Given the description of an element on the screen output the (x, y) to click on. 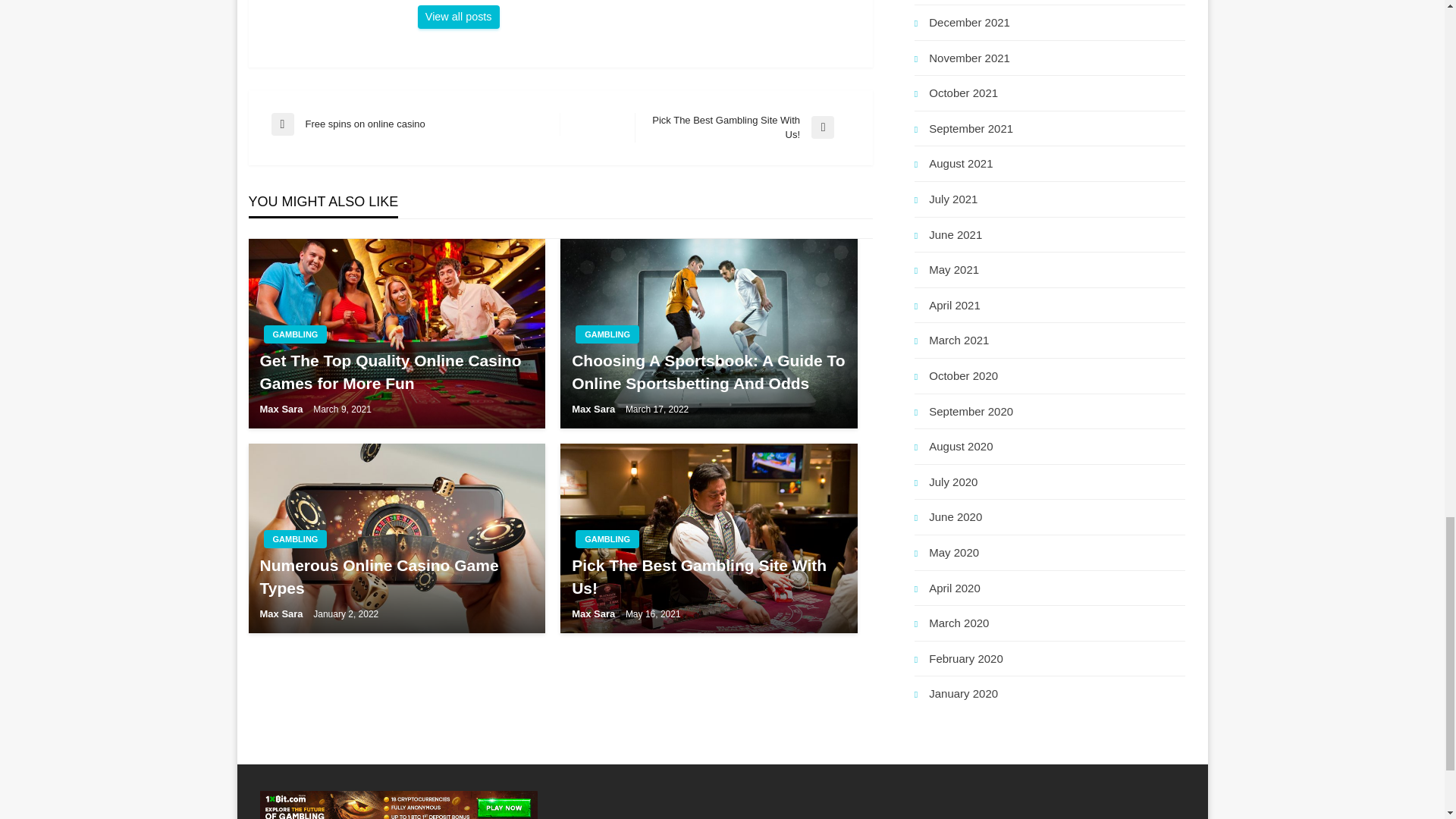
Max Sara (282, 408)
GAMBLING (295, 334)
Numerous Online Casino Game Types (396, 576)
GAMBLING (607, 334)
View all posts (458, 16)
Max Sara (594, 408)
Max Sara (458, 16)
Max Sara (282, 613)
GAMBLING (295, 538)
GAMBLING (607, 538)
Get The Top Quality Online Casino Games for More Fun (742, 127)
